Given the description of an element on the screen output the (x, y) to click on. 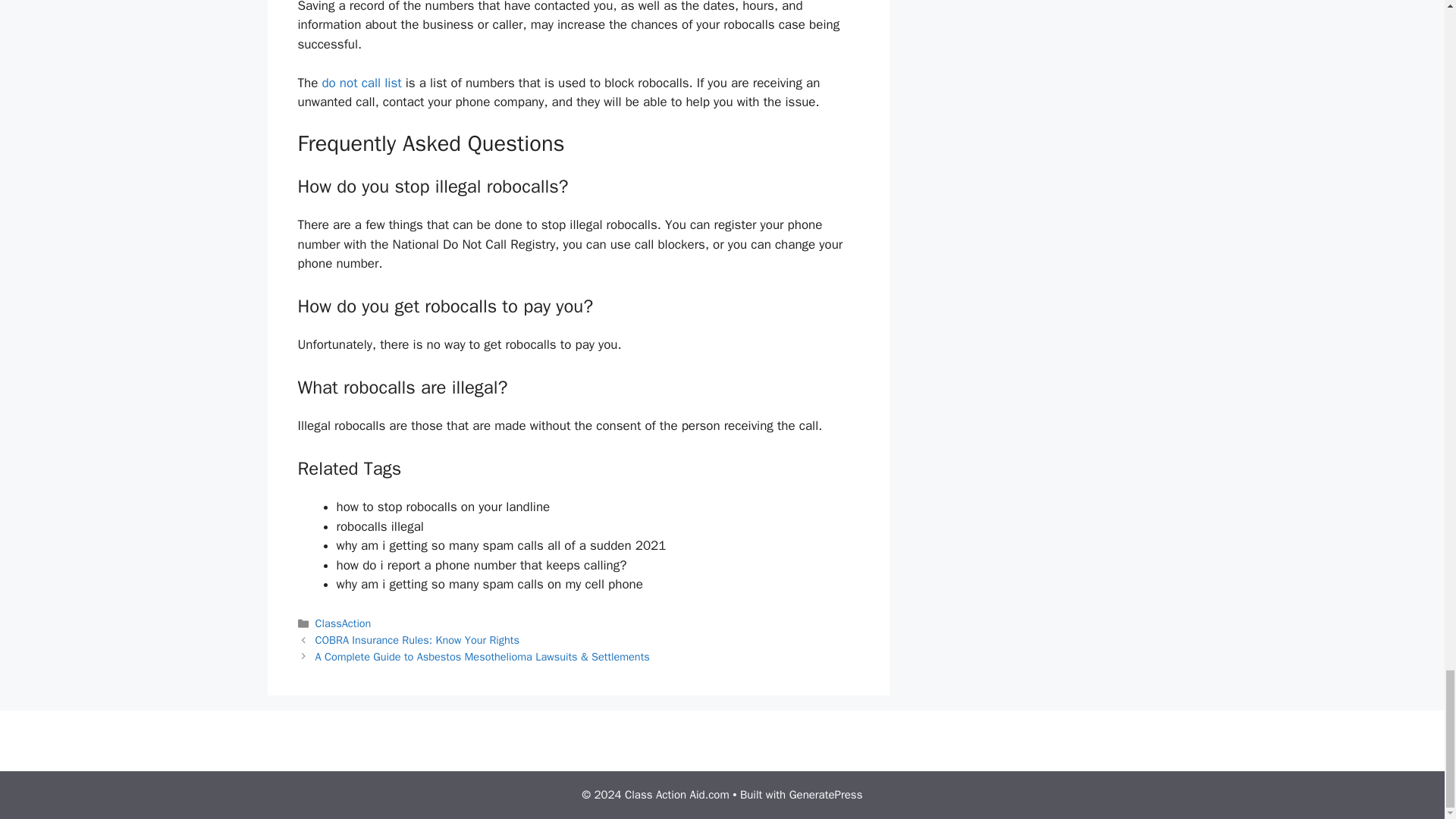
COBRA Insurance Rules: Know Your Rights (417, 640)
Previous (417, 640)
ClassAction (343, 622)
do not call list (361, 82)
Next (482, 656)
GeneratePress (826, 794)
